Given the description of an element on the screen output the (x, y) to click on. 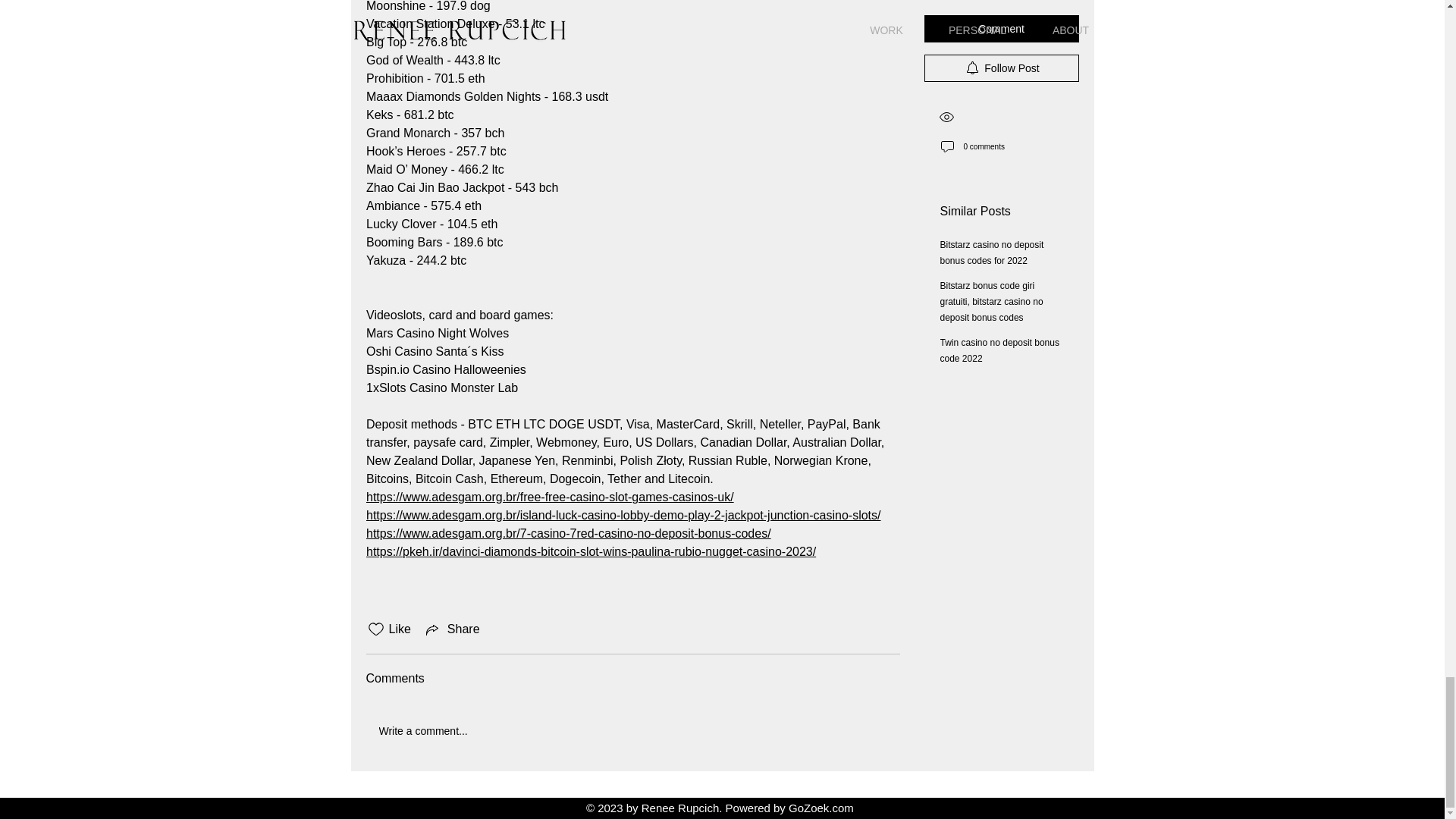
Write a comment... (632, 731)
Share (451, 628)
